Given the description of an element on the screen output the (x, y) to click on. 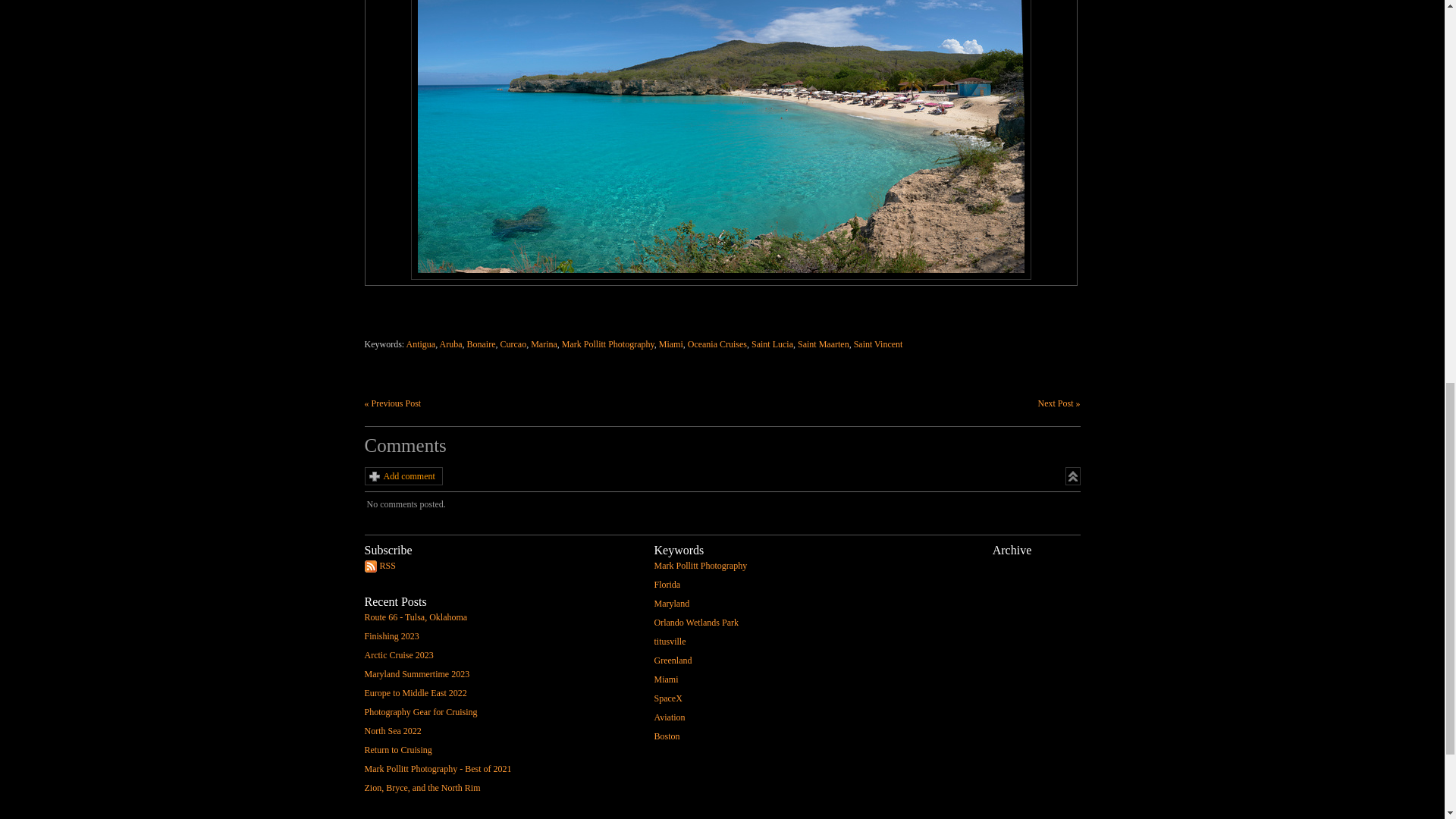
Bonaire (481, 344)
Miami (670, 344)
Curcao (513, 344)
Aruba (451, 344)
Marina (544, 344)
Antigua (420, 344)
Mark Pollitt Photography (607, 344)
Oceania Cruises (716, 344)
